Given the description of an element on the screen output the (x, y) to click on. 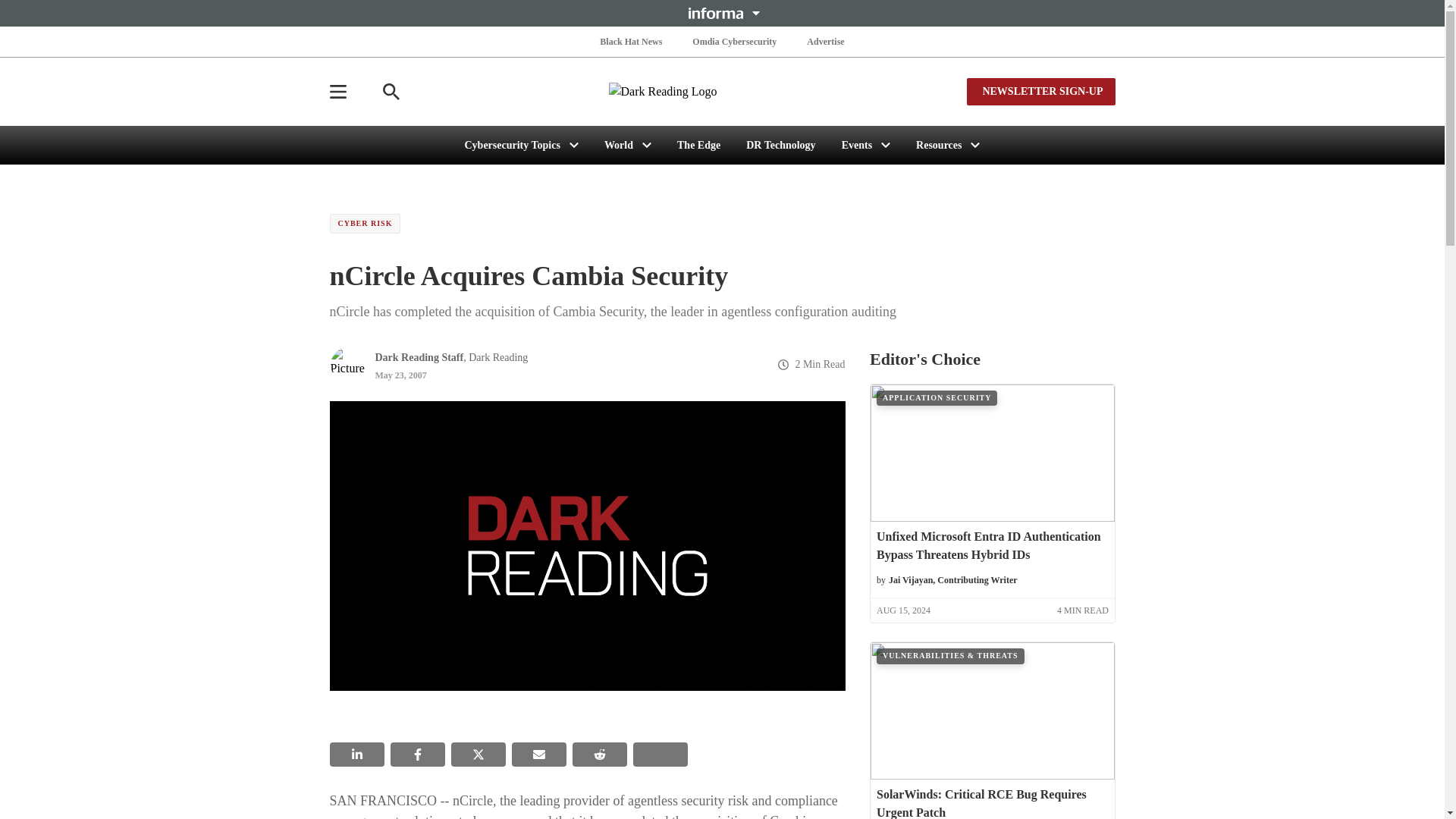
NEWSLETTER SIGN-UP (1040, 90)
Picture of Dark Reading Staff (347, 364)
Dark Reading Logo (721, 91)
Omdia Cybersecurity (733, 41)
Advertise (825, 41)
Black Hat News (630, 41)
